Given the description of an element on the screen output the (x, y) to click on. 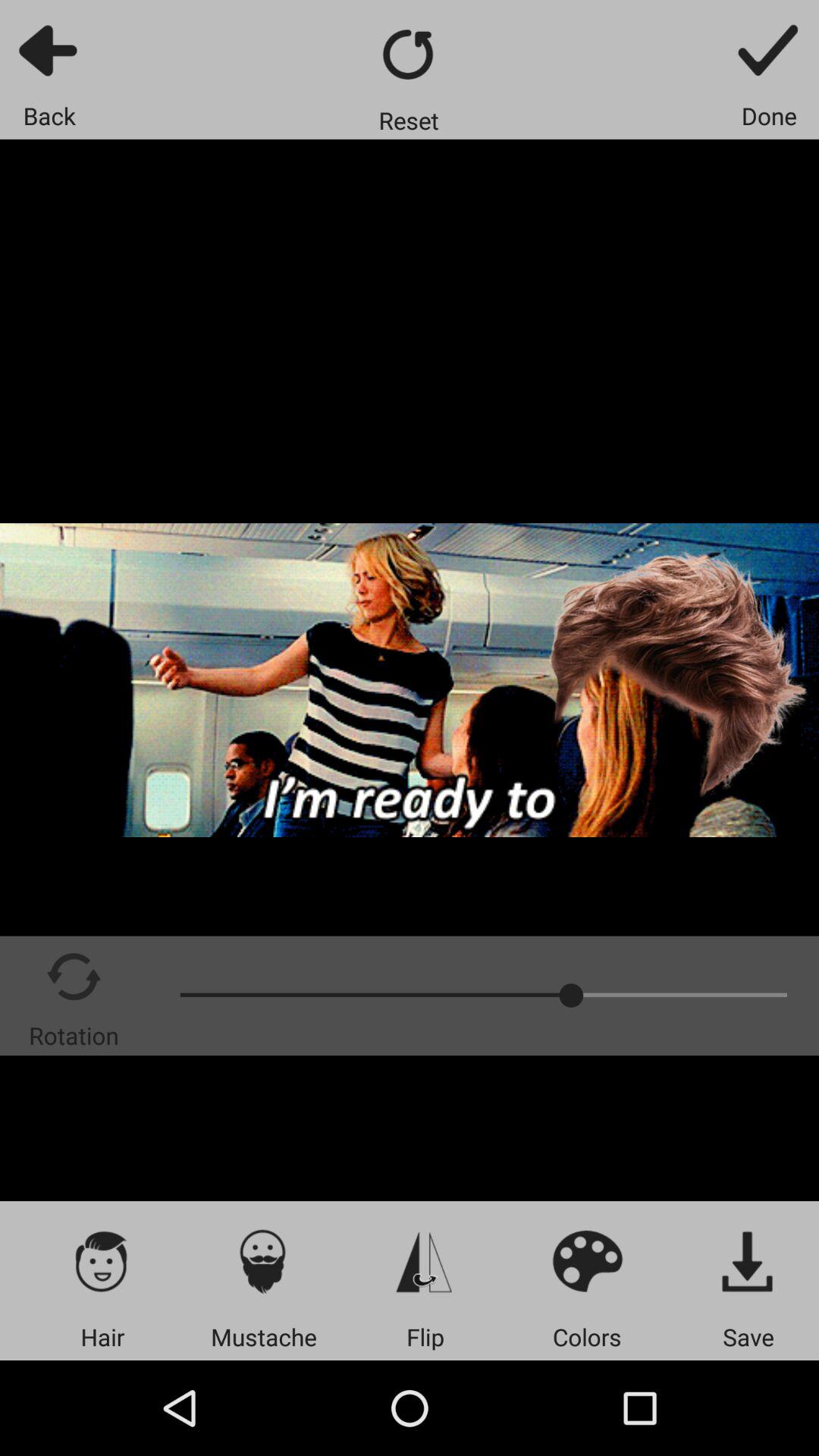
flip photo (425, 1260)
